Given the description of an element on the screen output the (x, y) to click on. 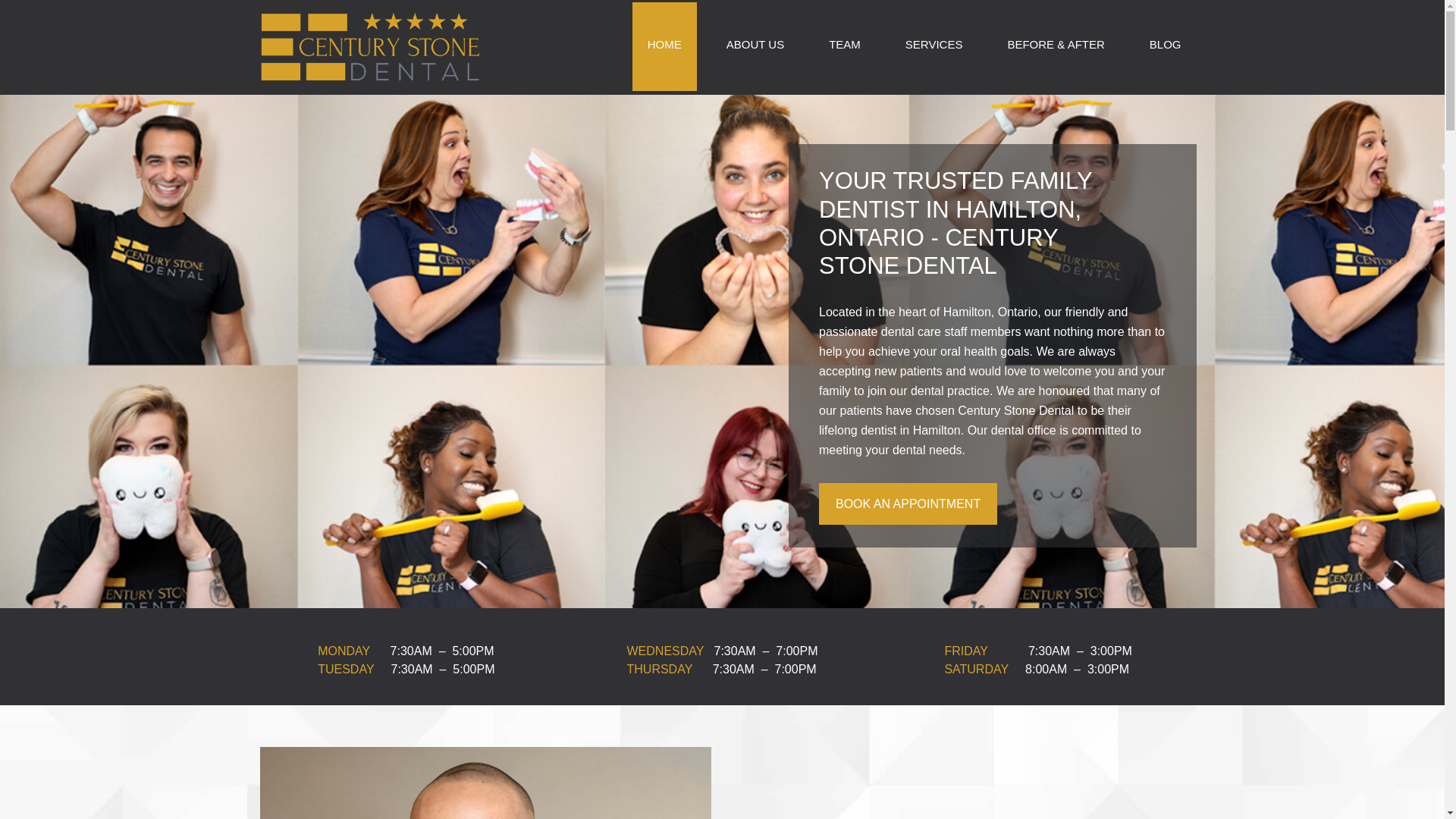
SERVICES (933, 46)
ABOUT US (755, 46)
